Given the description of an element on the screen output the (x, y) to click on. 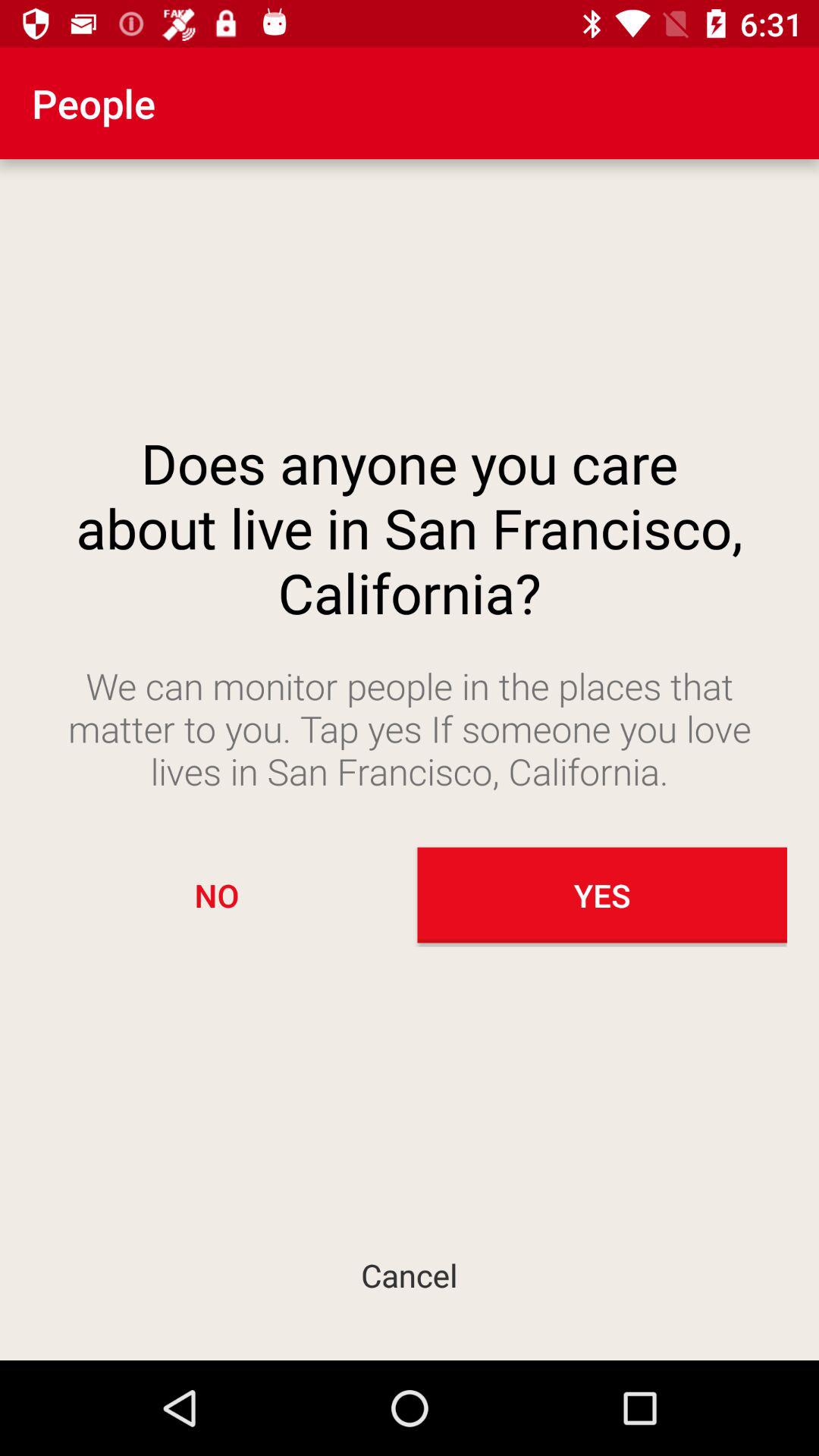
click the icon above cancel icon (216, 894)
